Given the description of an element on the screen output the (x, y) to click on. 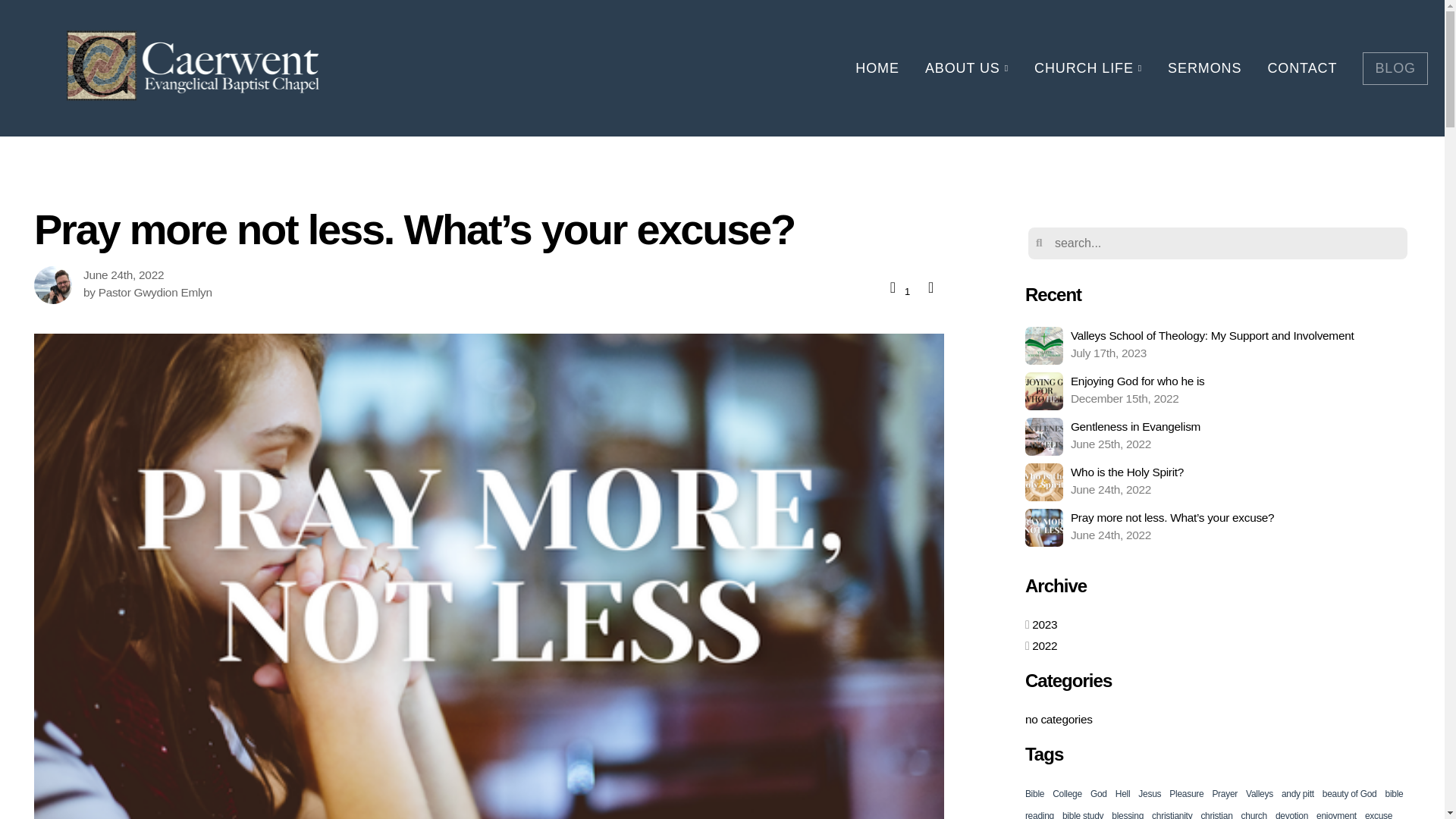
1 (898, 286)
Copy to Clipboard (930, 286)
CHURCH LIFE  (1088, 68)
SERMONS (1204, 68)
BLOG (1395, 67)
HOME (1217, 391)
ABOUT US  (877, 68)
CONTACT (967, 68)
